Given the description of an element on the screen output the (x, y) to click on. 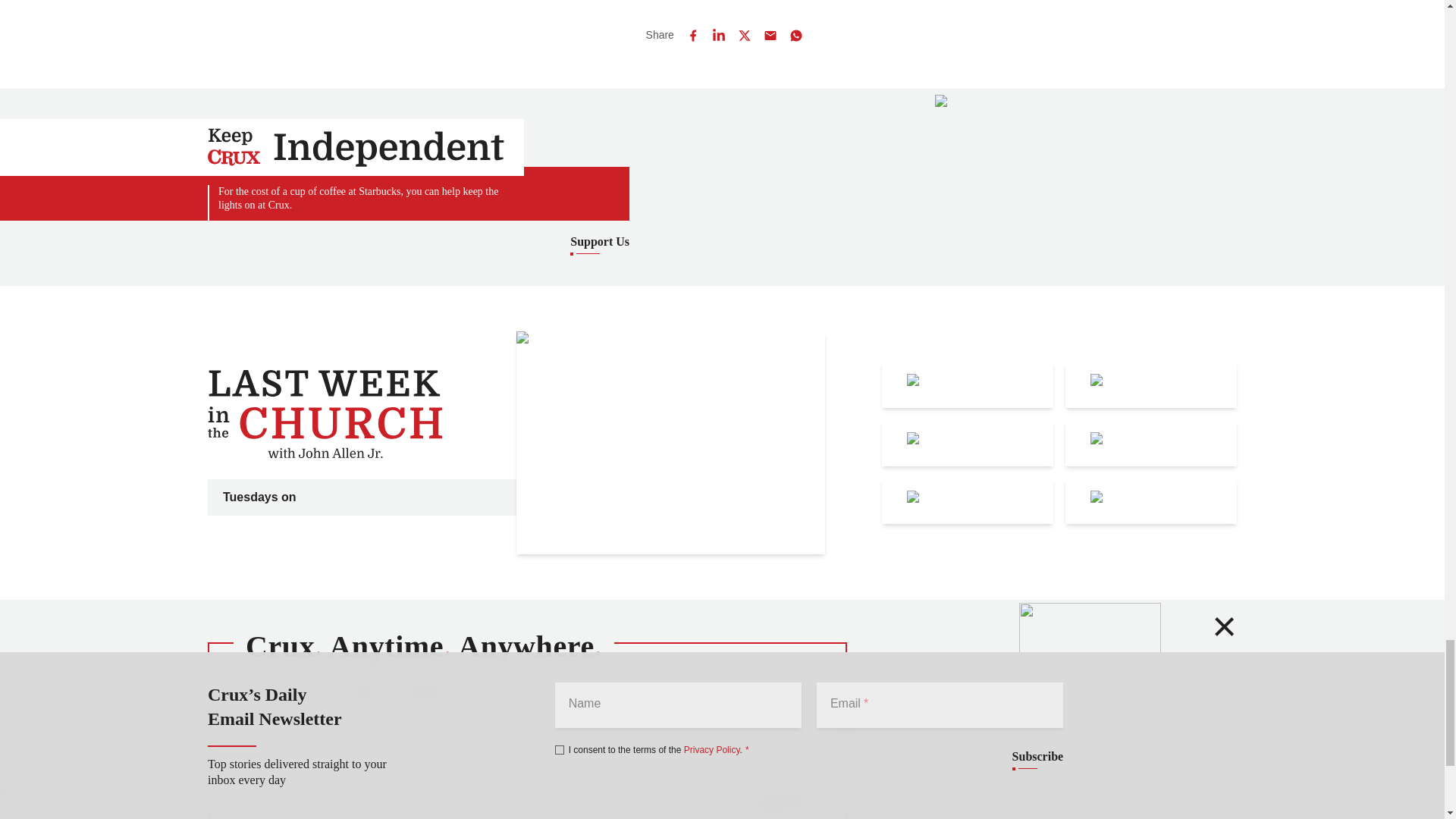
true (250, 793)
